Given the description of an element on the screen output the (x, y) to click on. 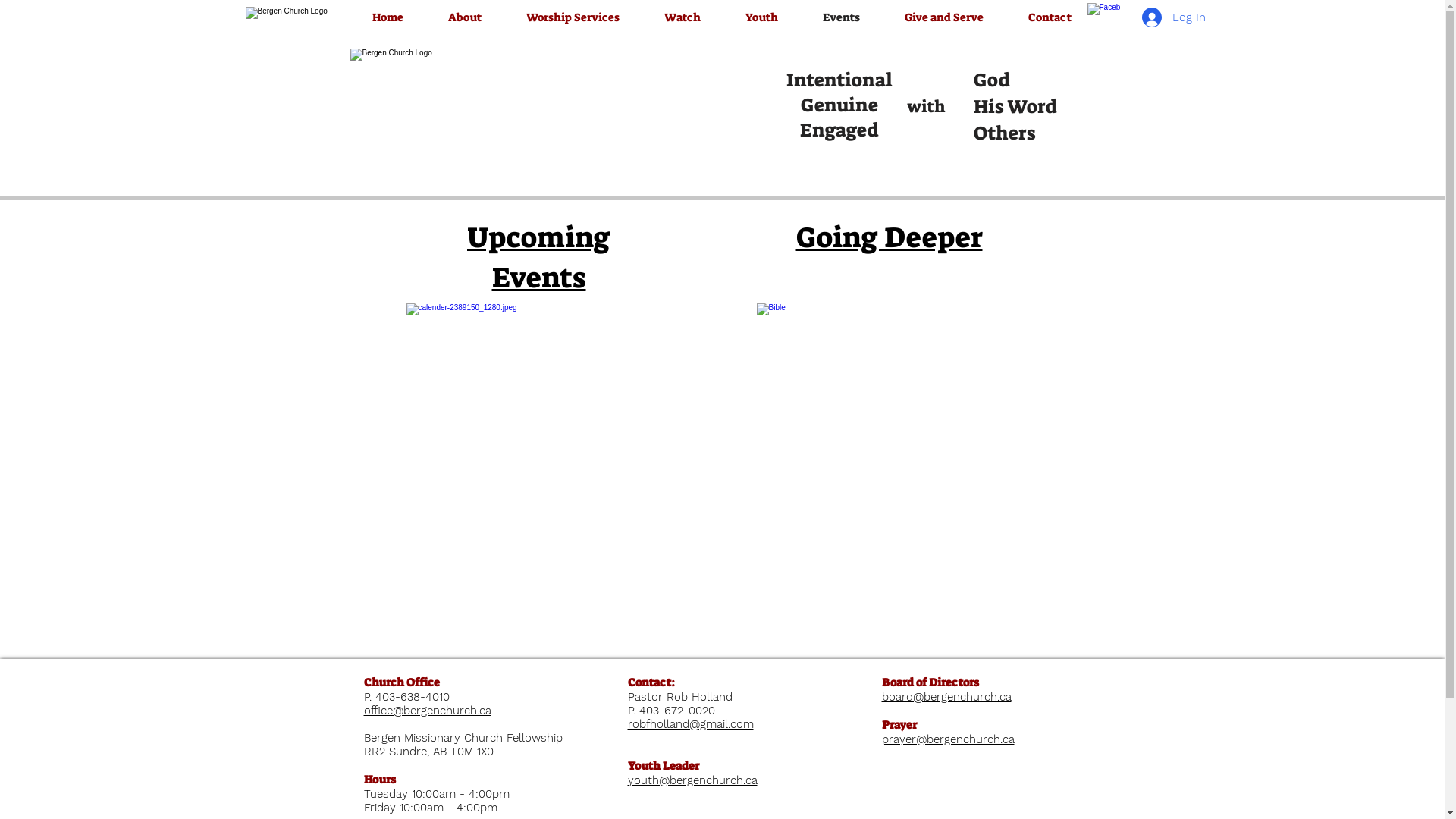
Calendar Element type: hover (889, 435)
Intentional
Genuine
Engaged Element type: text (838, 104)
Watch Element type: text (681, 17)
office@bergenchurch.ca Element type: text (427, 710)
board@bergenchurch.ca Element type: text (945, 696)
youth@bergenchurch.ca Element type: text (692, 780)
Log In Element type: text (1173, 17)
Home Element type: text (388, 17)
robfholland@gmail.com Element type: text (690, 724)
prayer@bergenchurch.ca Element type: text (947, 739)
Upcoming Events Element type: text (538, 257)
Going Deeper Element type: text (889, 237)
About Element type: text (465, 17)
Calendar Element type: hover (538, 435)
Youth Element type: text (761, 17)
Give and Serve Element type: text (944, 17)
Events Element type: text (841, 17)
Contact Element type: text (1048, 17)
Worship Services Element type: text (572, 17)
